Given the description of an element on the screen output the (x, y) to click on. 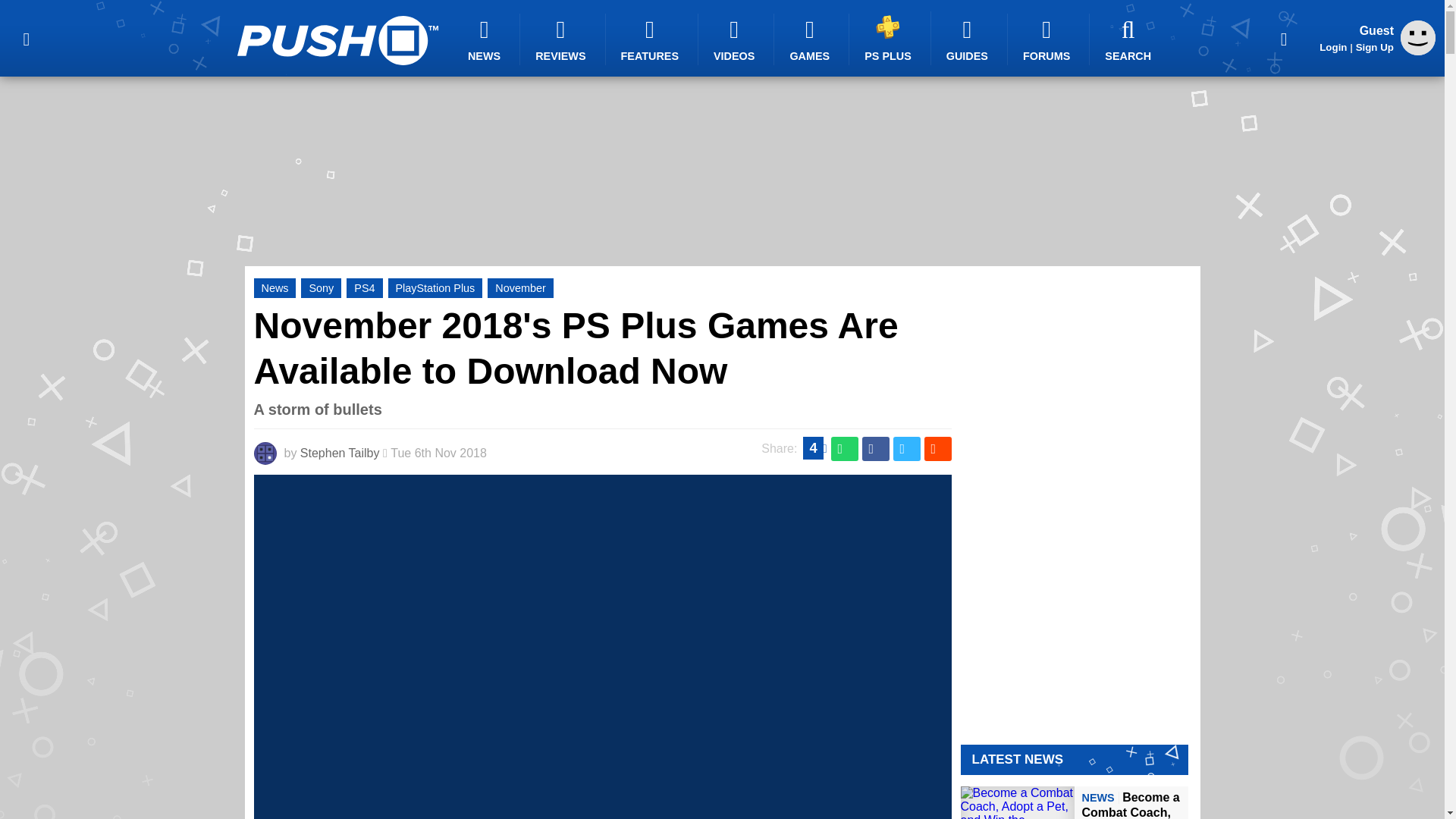
PlayStation Plus (435, 288)
FEATURES (651, 39)
Login (1332, 47)
Share this on WhatsApp (845, 448)
Share this on Reddit (936, 448)
Guest (1417, 37)
Share This Page (1283, 37)
November 2018's PS Plus Games Are Available to Download Now (575, 348)
Sign Up (1374, 47)
Stephen Tailby (339, 452)
